Given the description of an element on the screen output the (x, y) to click on. 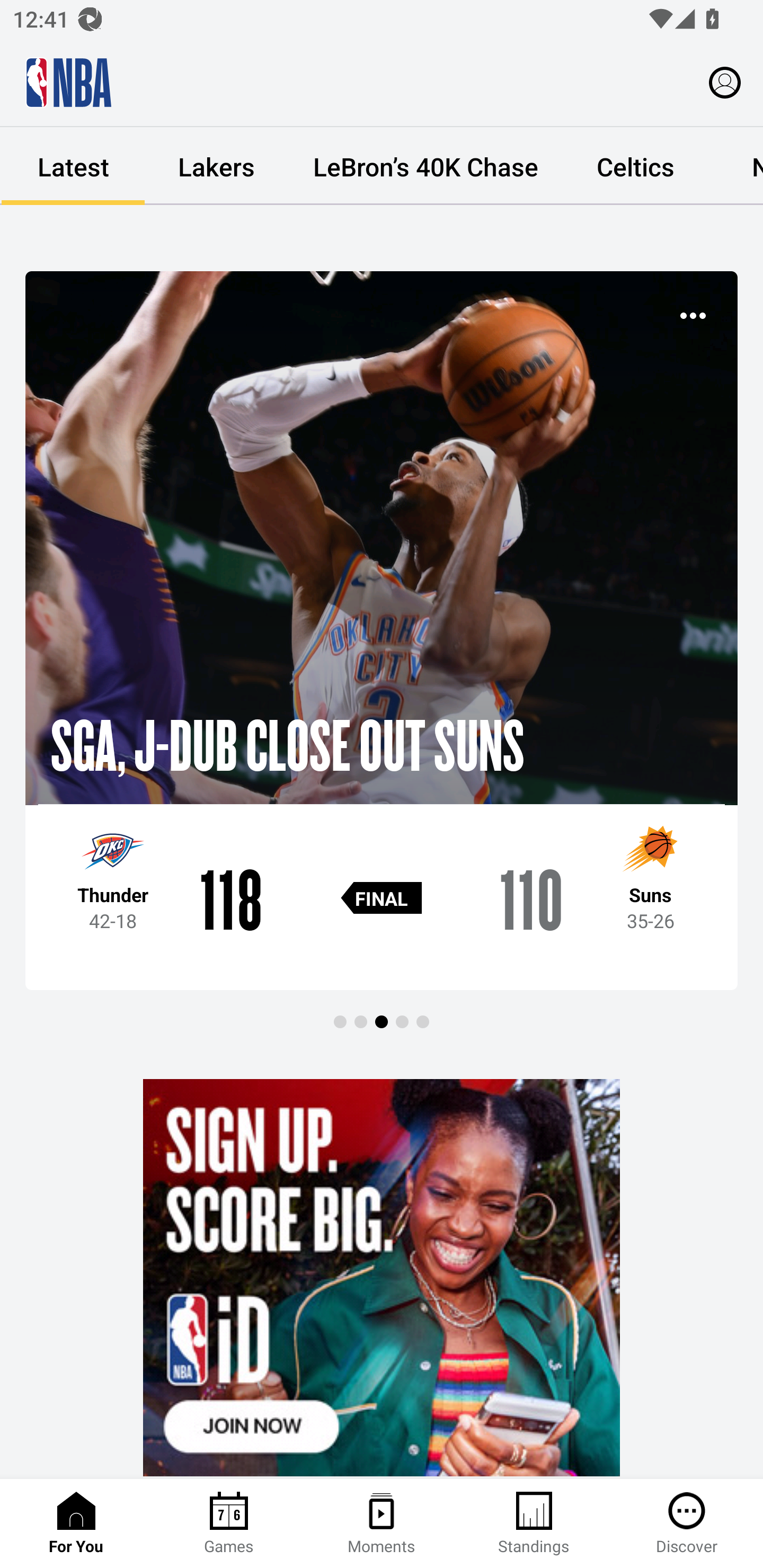
Profile (724, 81)
Lakers (215, 166)
LeBron’s 40K Chase (425, 166)
Celtics (634, 166)
Games (228, 1523)
Moments (381, 1523)
Standings (533, 1523)
Discover (686, 1523)
